Given the description of an element on the screen output the (x, y) to click on. 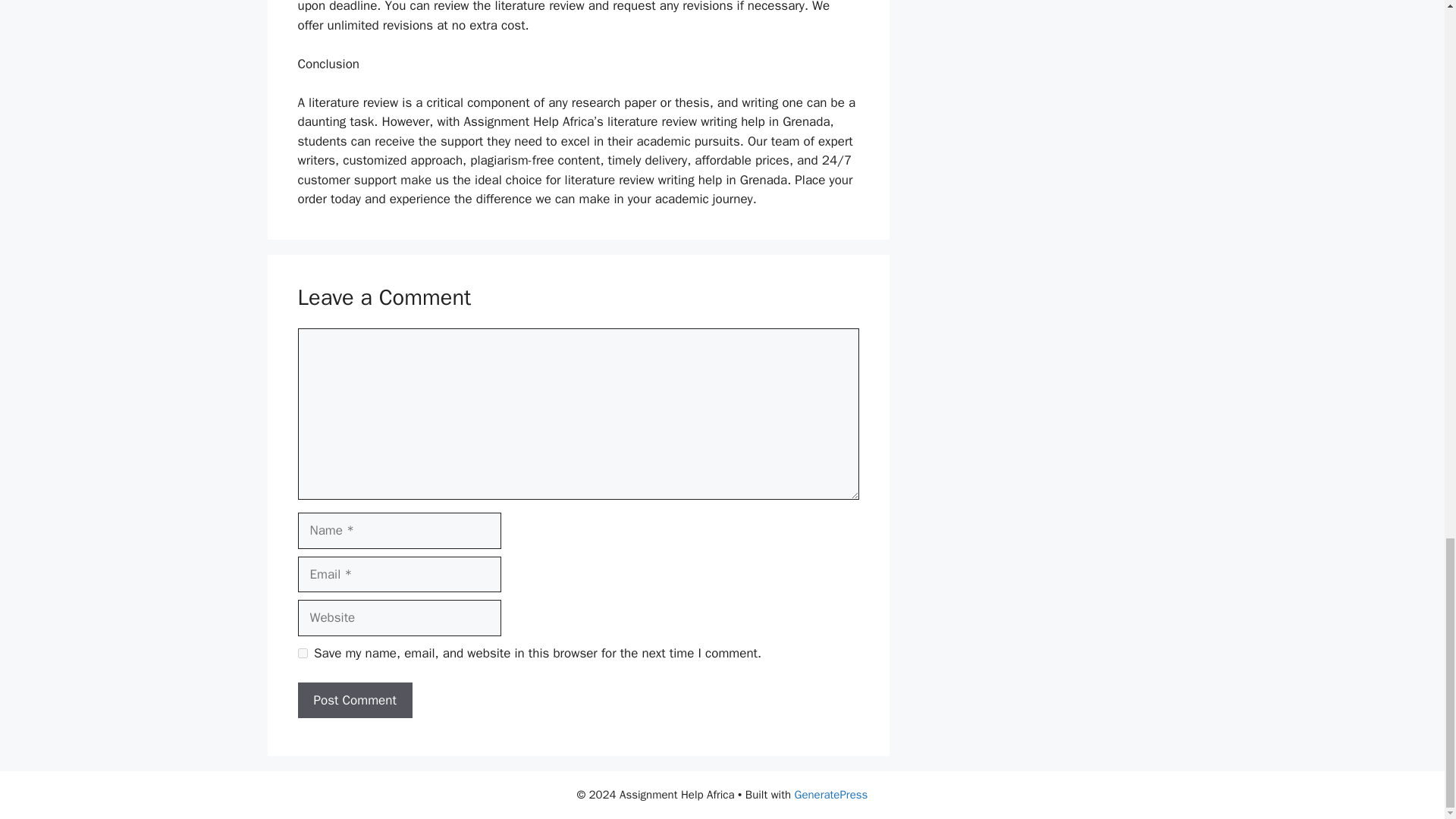
GeneratePress (830, 794)
yes (302, 653)
Post Comment (354, 700)
Post Comment (354, 700)
